Given the description of an element on the screen output the (x, y) to click on. 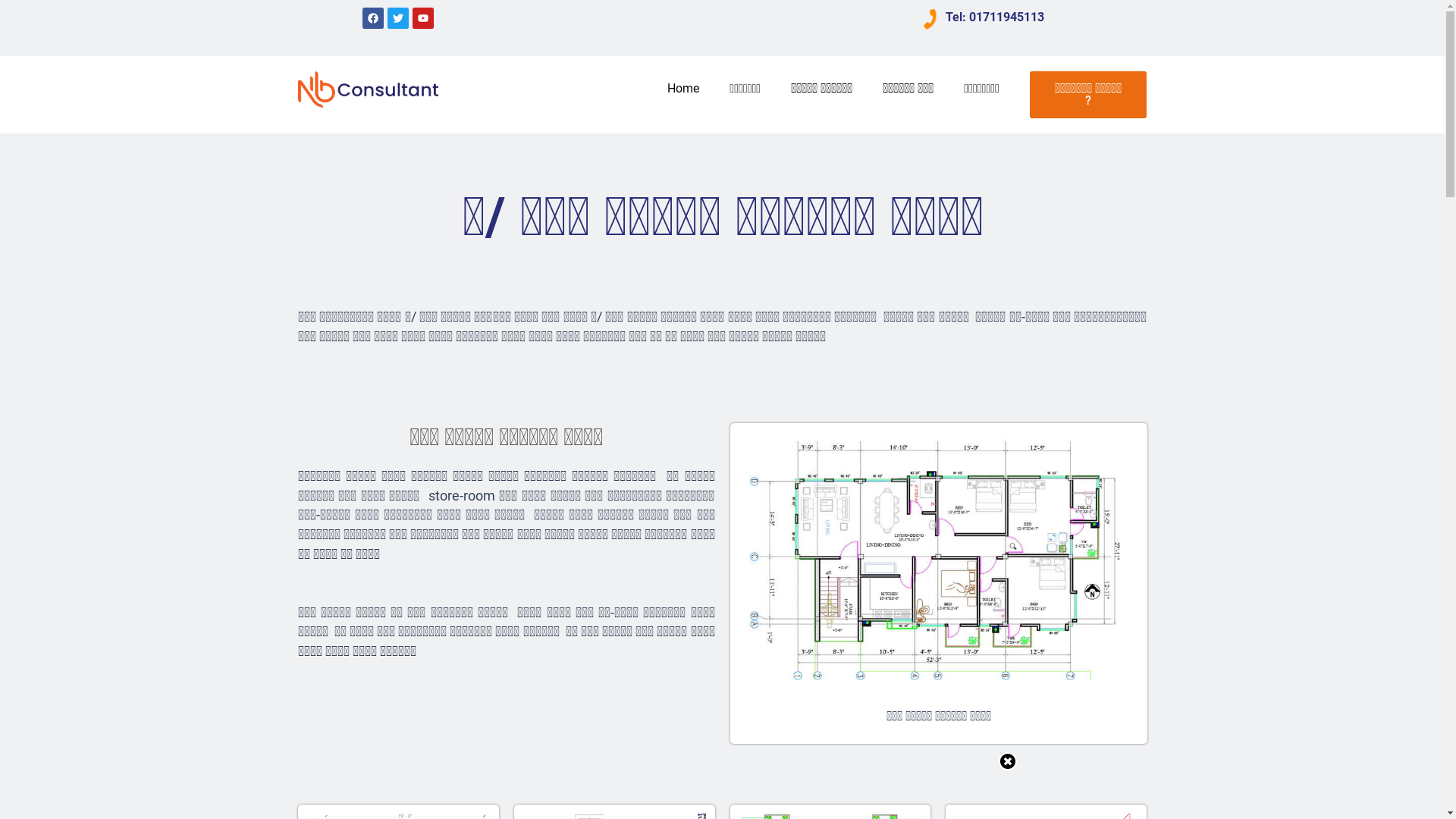
Twitter Element type: text (397, 17)
Home Element type: text (683, 88)
Facebook Element type: text (372, 17)
Youtube Element type: text (422, 17)
